Given the description of an element on the screen output the (x, y) to click on. 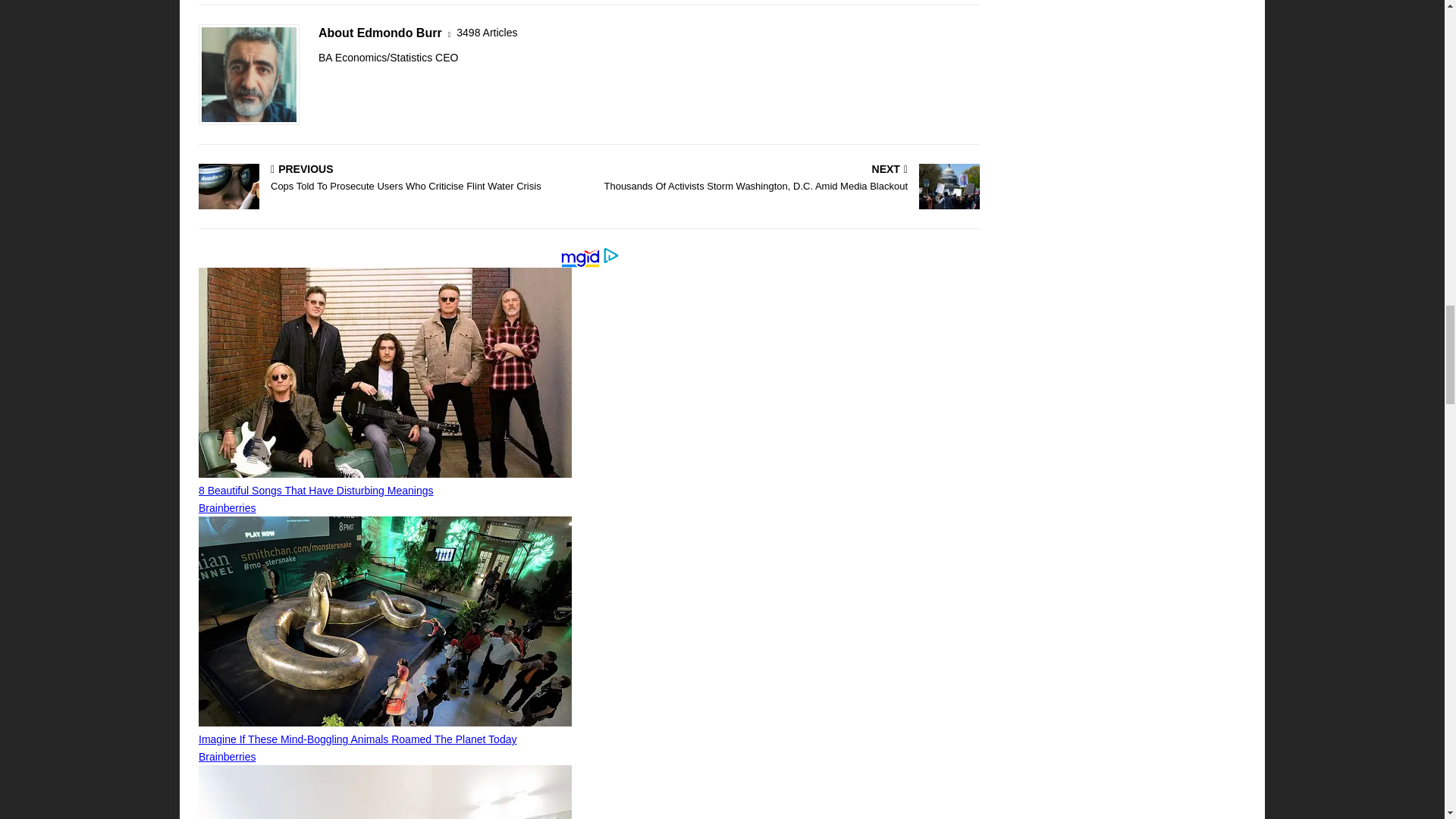
More articles written by Edmondo Burr' (486, 32)
